Given the description of an element on the screen output the (x, y) to click on. 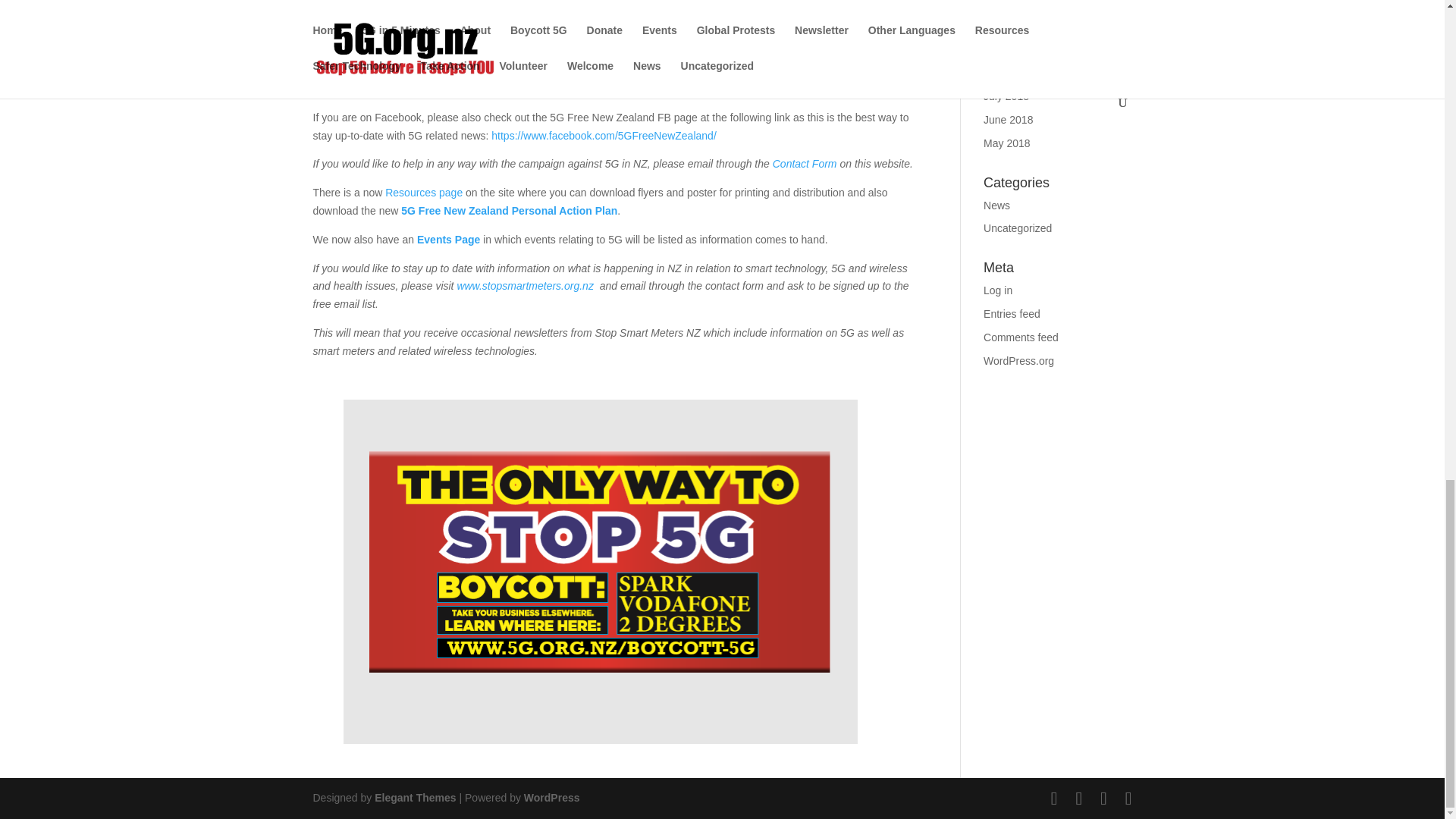
Premium WordPress Themes (414, 797)
www.stopsmartmeters.org.nz (525, 285)
Contact Form (805, 163)
Events Page (446, 239)
5G Free New Zealand Personal Action Plan (509, 210)
Resources page (424, 192)
www.5G.org.nz (512, 70)
